Given the description of an element on the screen output the (x, y) to click on. 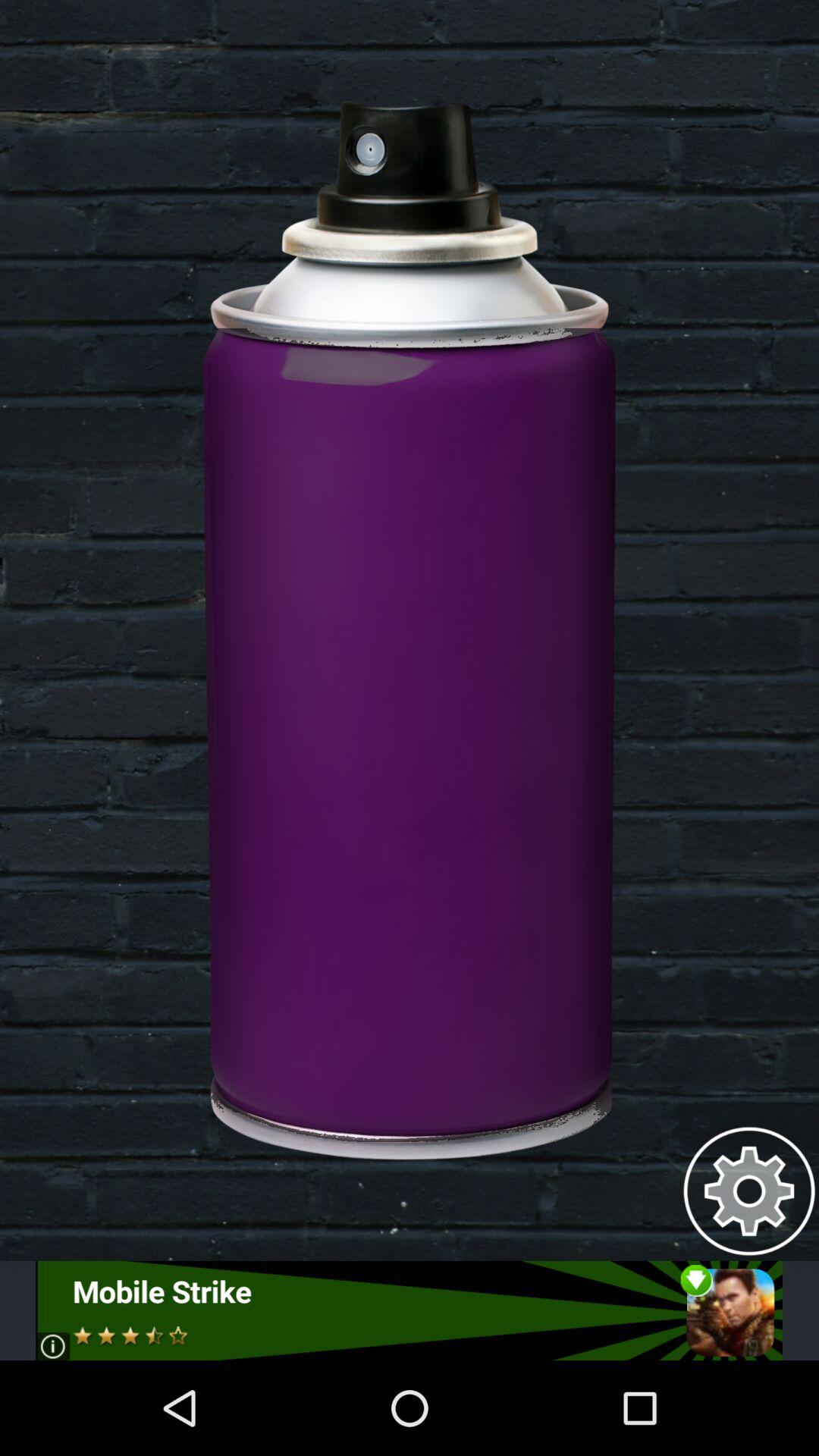
turn off the icon at the bottom (408, 1310)
